Given the description of an element on the screen output the (x, y) to click on. 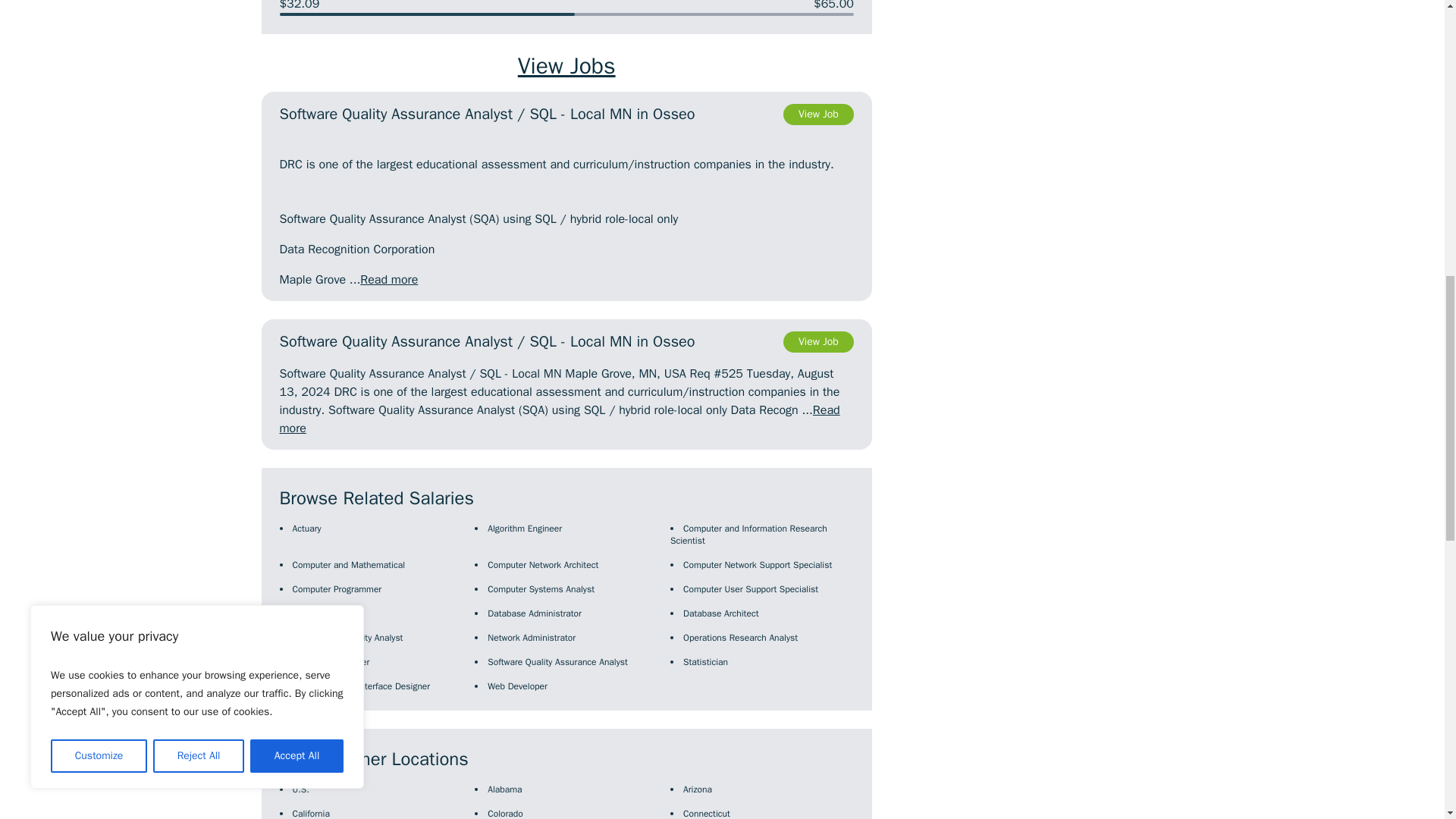
Read more (559, 418)
Computer and Information Research Scientist (748, 534)
View Job (818, 341)
Algorithm Engineer (524, 528)
View Job (818, 114)
Read more (388, 279)
Actuary (306, 528)
